Given the description of an element on the screen output the (x, y) to click on. 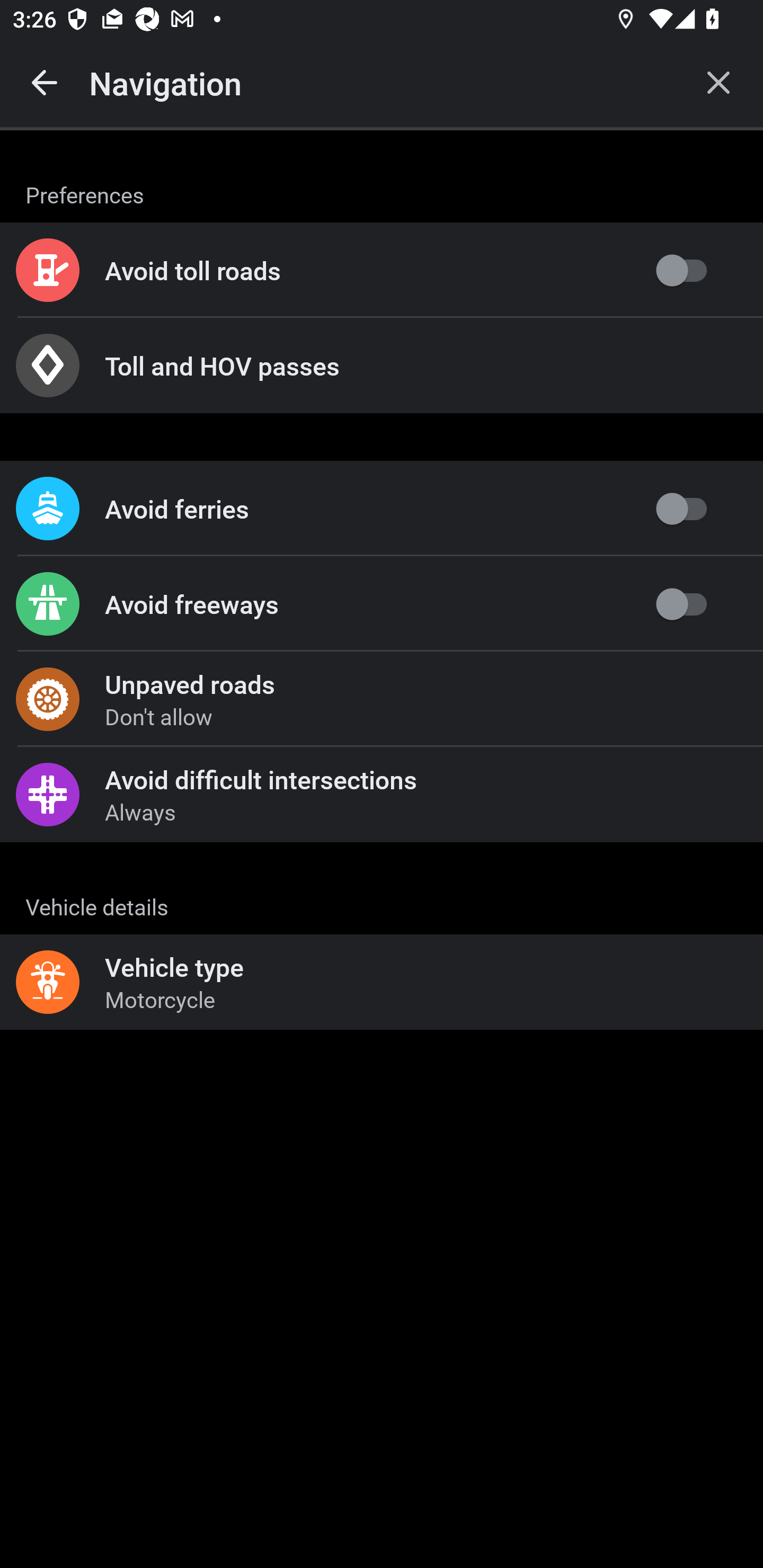
Avoid toll roads (381, 270)
Toll and HOV passes (381, 365)
Avoid ferries (381, 508)
Avoid freeways (381, 604)
Unpaved roads Don't allow (381, 699)
Avoid difficult intersections Always (381, 794)
ACTION_CELL_ICON Shut off ACTION_CELL_TEXT (381, 891)
Vehicle type Motorcycle (381, 982)
